Given the description of an element on the screen output the (x, y) to click on. 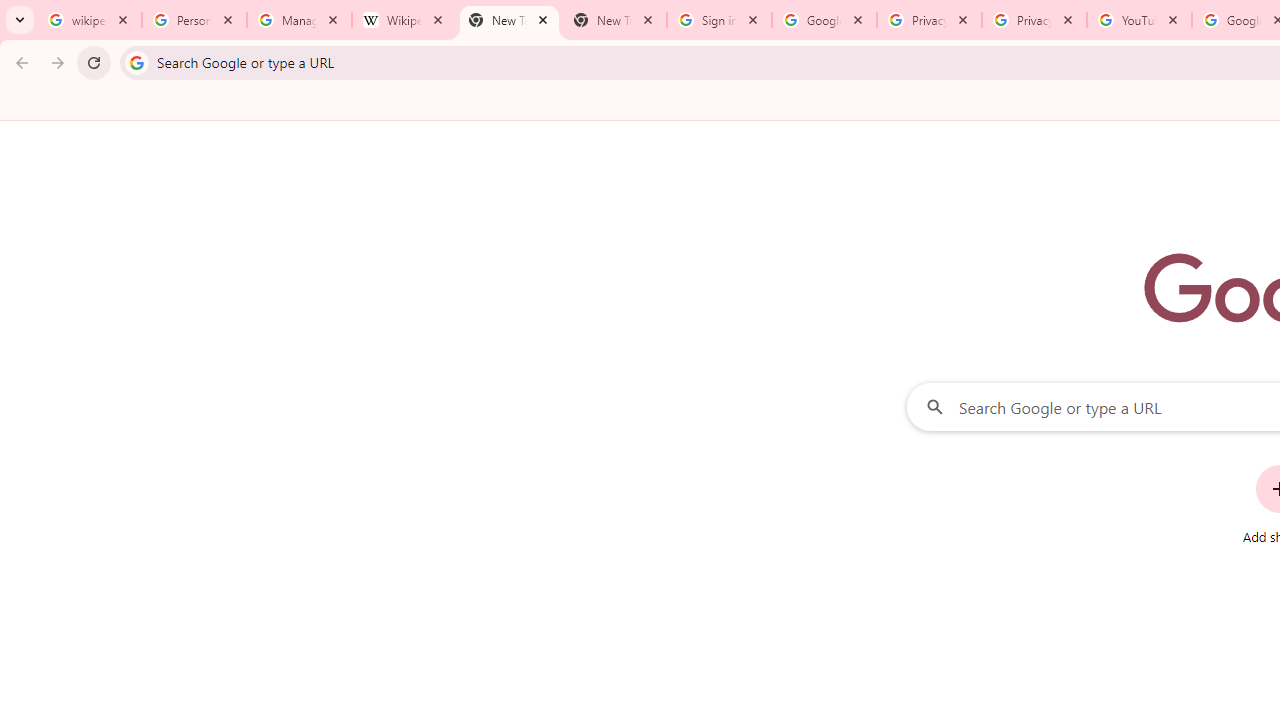
Manage your Location History - Google Search Help (299, 20)
Google Drive: Sign-in (823, 20)
Sign in - Google Accounts (718, 20)
Wikipedia:Edit requests - Wikipedia (404, 20)
